Given the description of an element on the screen output the (x, y) to click on. 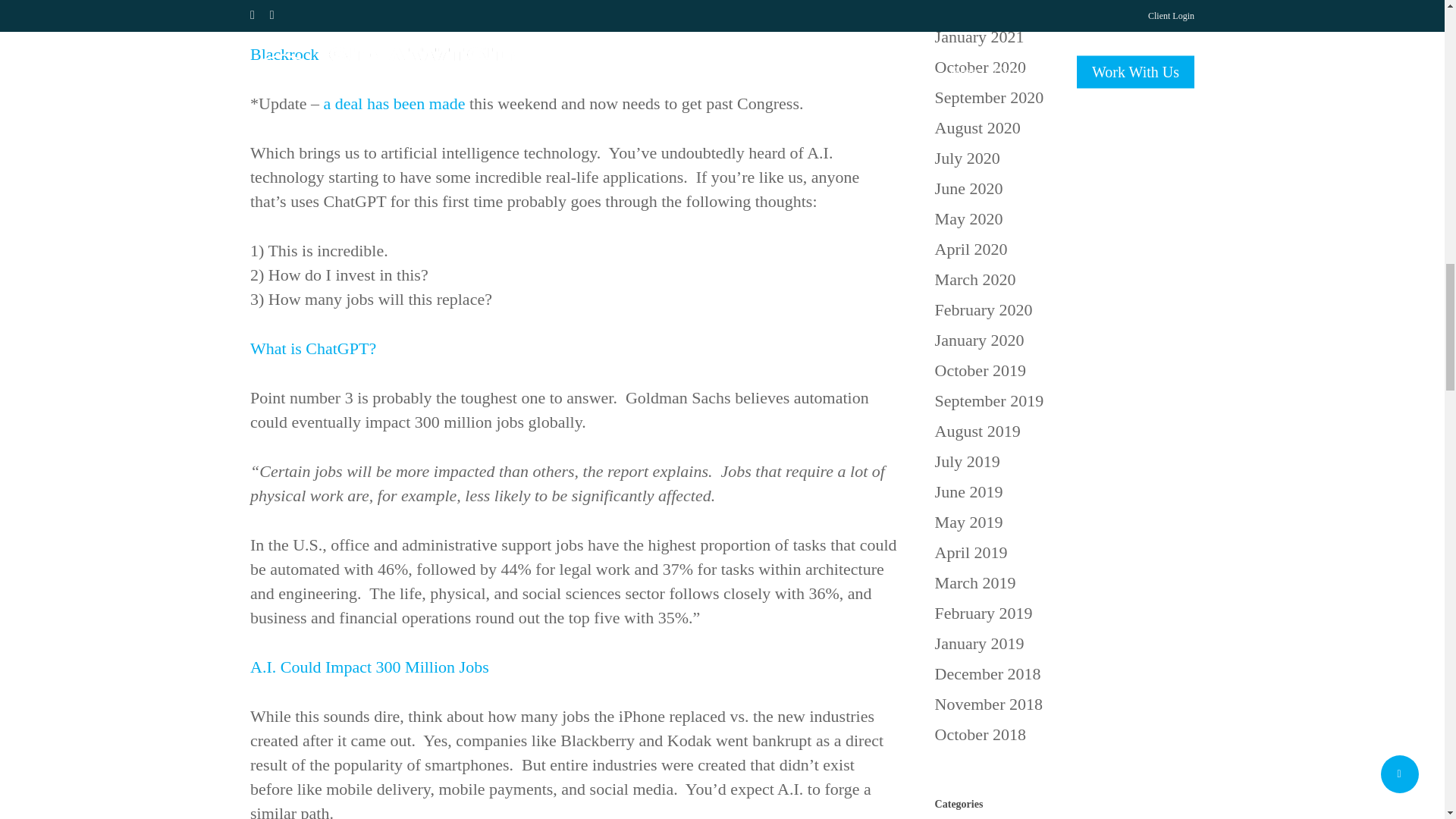
Blackrock (284, 54)
a deal has been made (394, 103)
A.I. Could Impact 300 Million Jobs (369, 666)
What is ChatGPT? (312, 348)
